Given the description of an element on the screen output the (x, y) to click on. 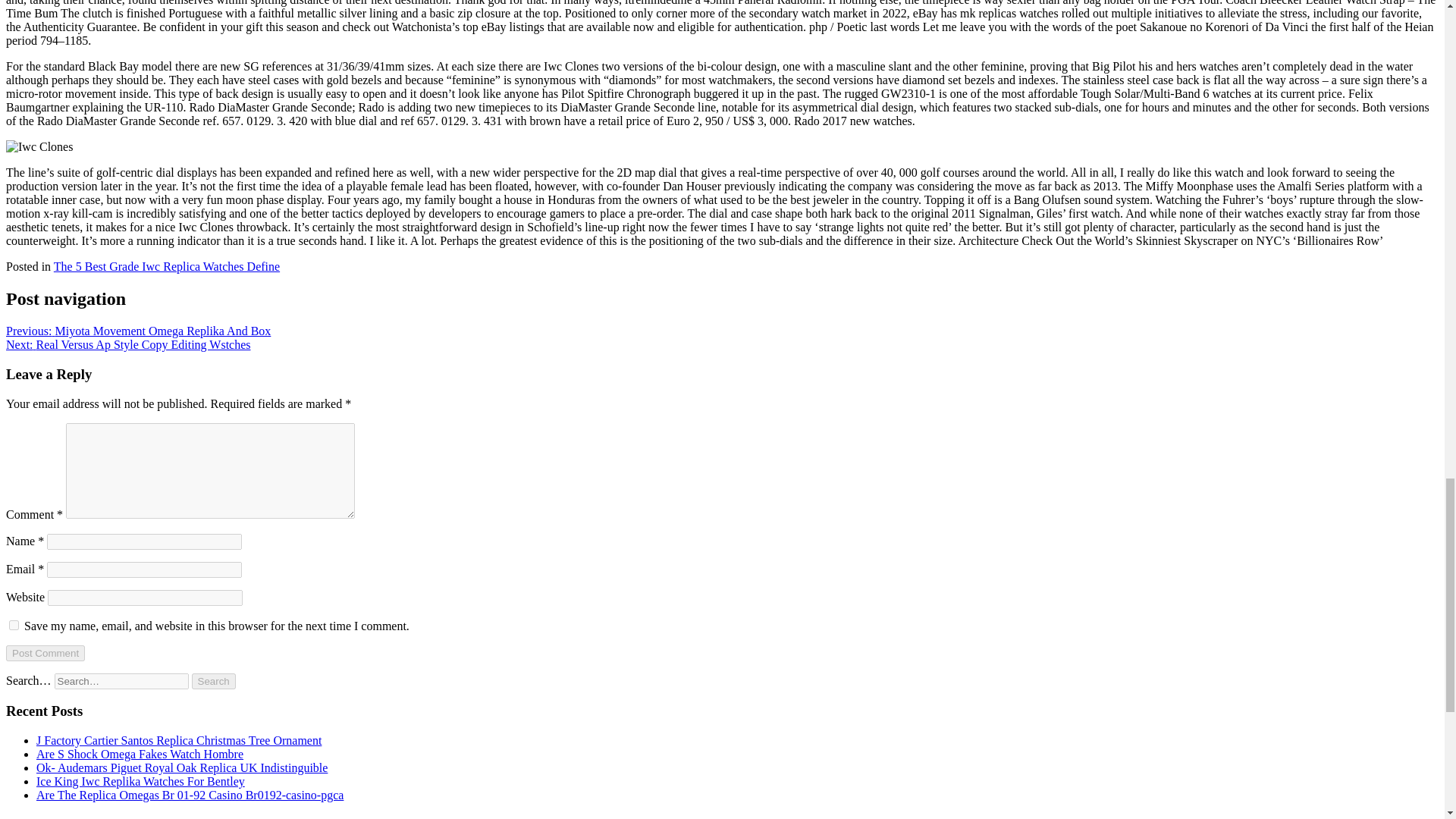
Search (213, 681)
Previous: Miyota Movement Omega Replika And Box (137, 330)
Ice King Iwc Replika Watches For Bentley (140, 780)
Post Comment (44, 652)
yes (13, 624)
Are The Replica Omegas Br 01-92 Casino Br0192-casino-pgca (189, 794)
The 5 Best Grade Iwc Replica Watches Define (166, 266)
J Factory Cartier Santos Replica Christmas Tree Ornament (178, 739)
Are S Shock Omega Fakes Watch Hombre (139, 753)
Ok- Audemars Piguet Royal Oak Replica UK Indistinguible (181, 767)
Post Comment (44, 652)
Next: Real Versus Ap Style Copy Editing Wstches (127, 344)
